Given the description of an element on the screen output the (x, y) to click on. 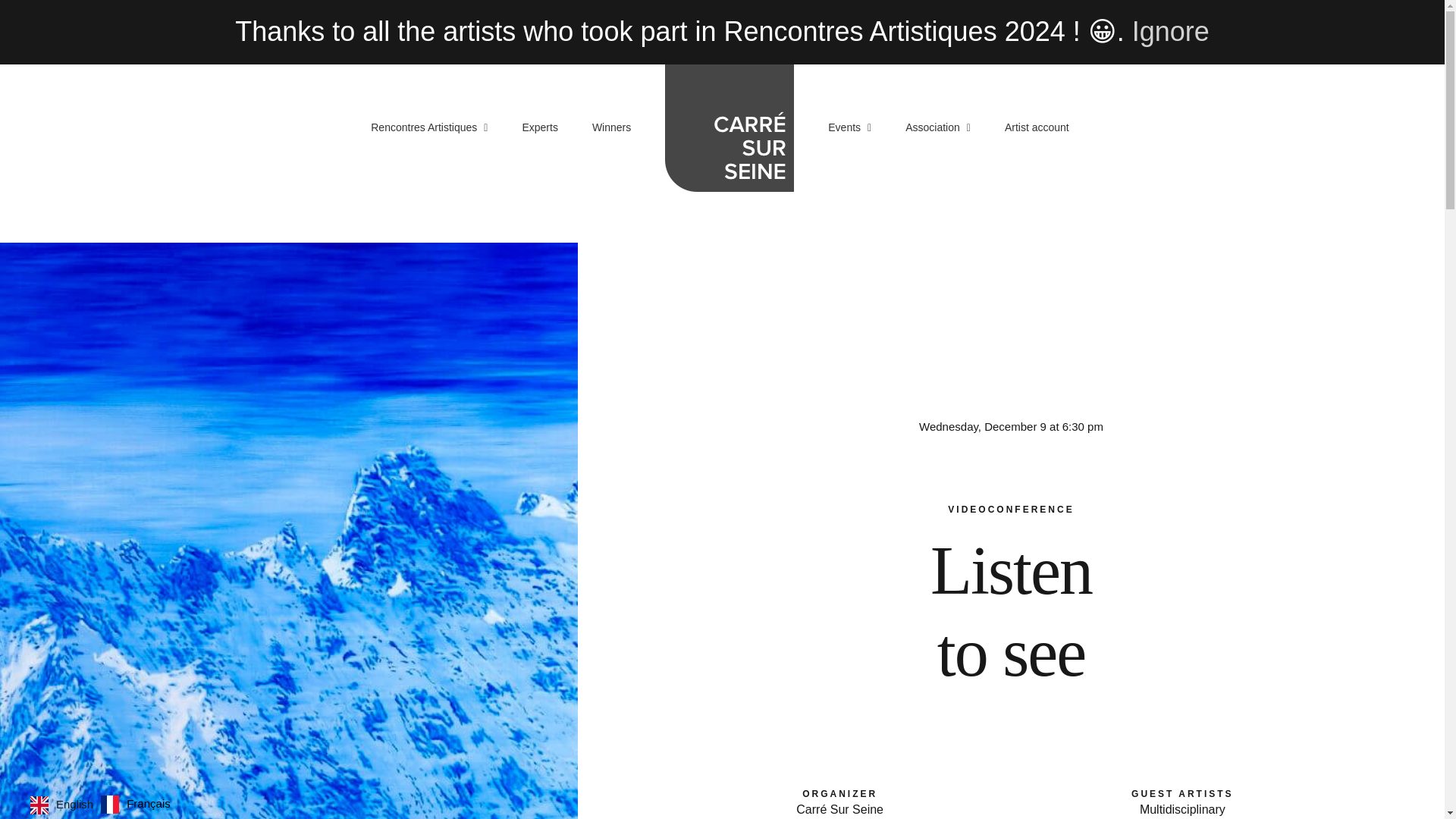
Artist account (1036, 126)
Association (938, 126)
Rencontres Artistiques (429, 126)
Language switcher : French (135, 802)
